Given the description of an element on the screen output the (x, y) to click on. 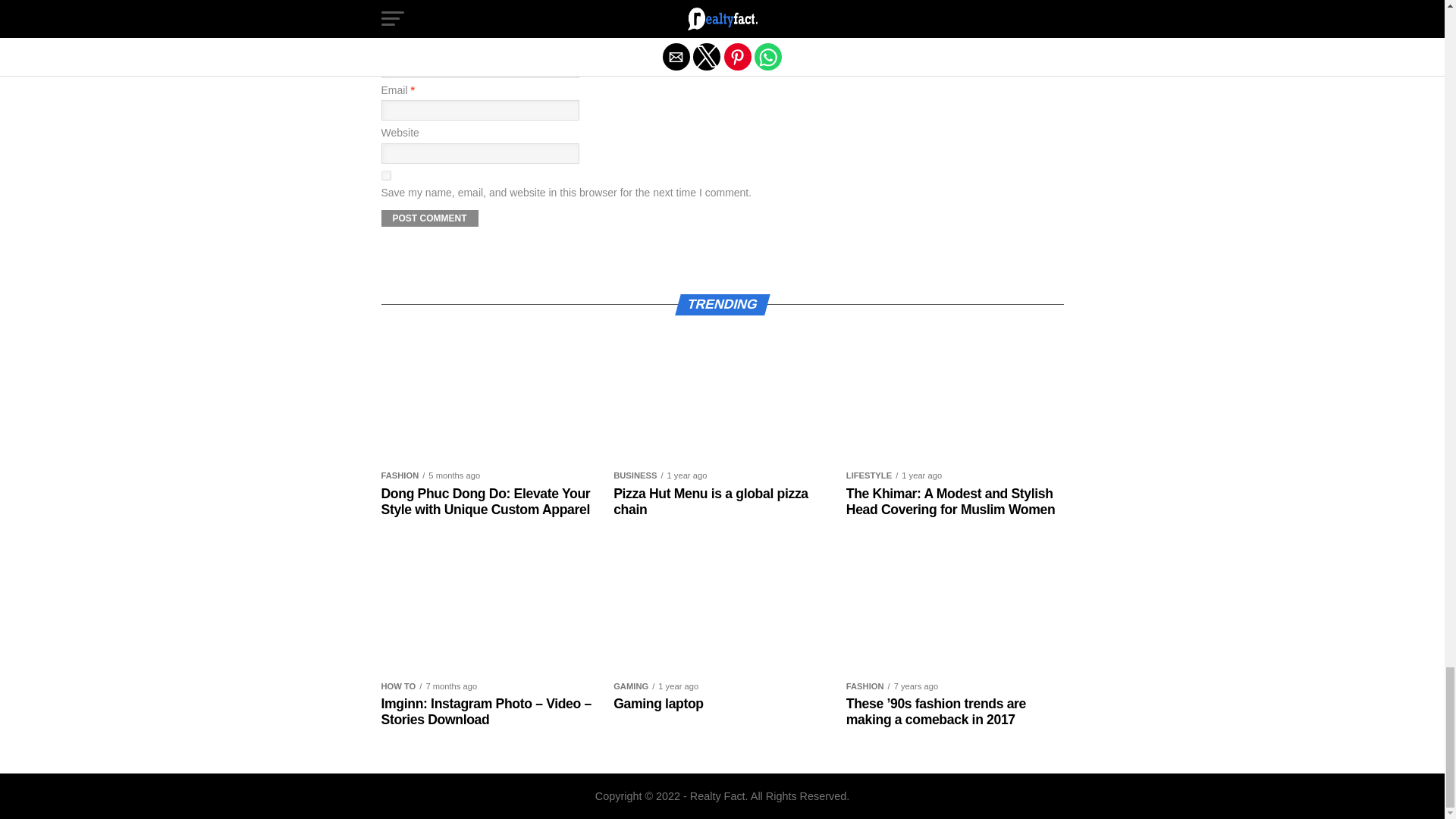
Post Comment (428, 217)
yes (385, 175)
Post Comment (428, 217)
